Given the description of an element on the screen output the (x, y) to click on. 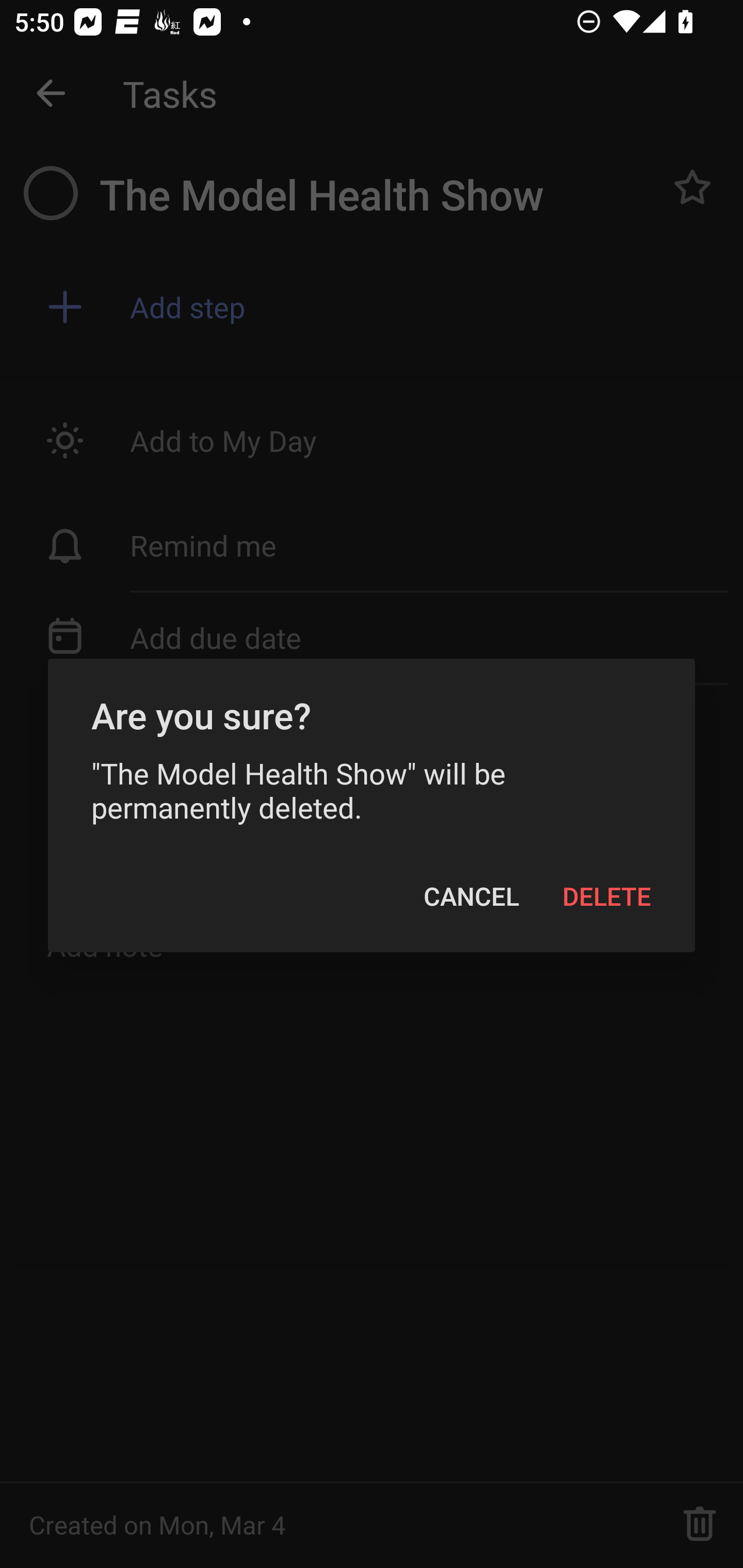
CANCEL (470, 895)
DELETE (606, 895)
